Given the description of an element on the screen output the (x, y) to click on. 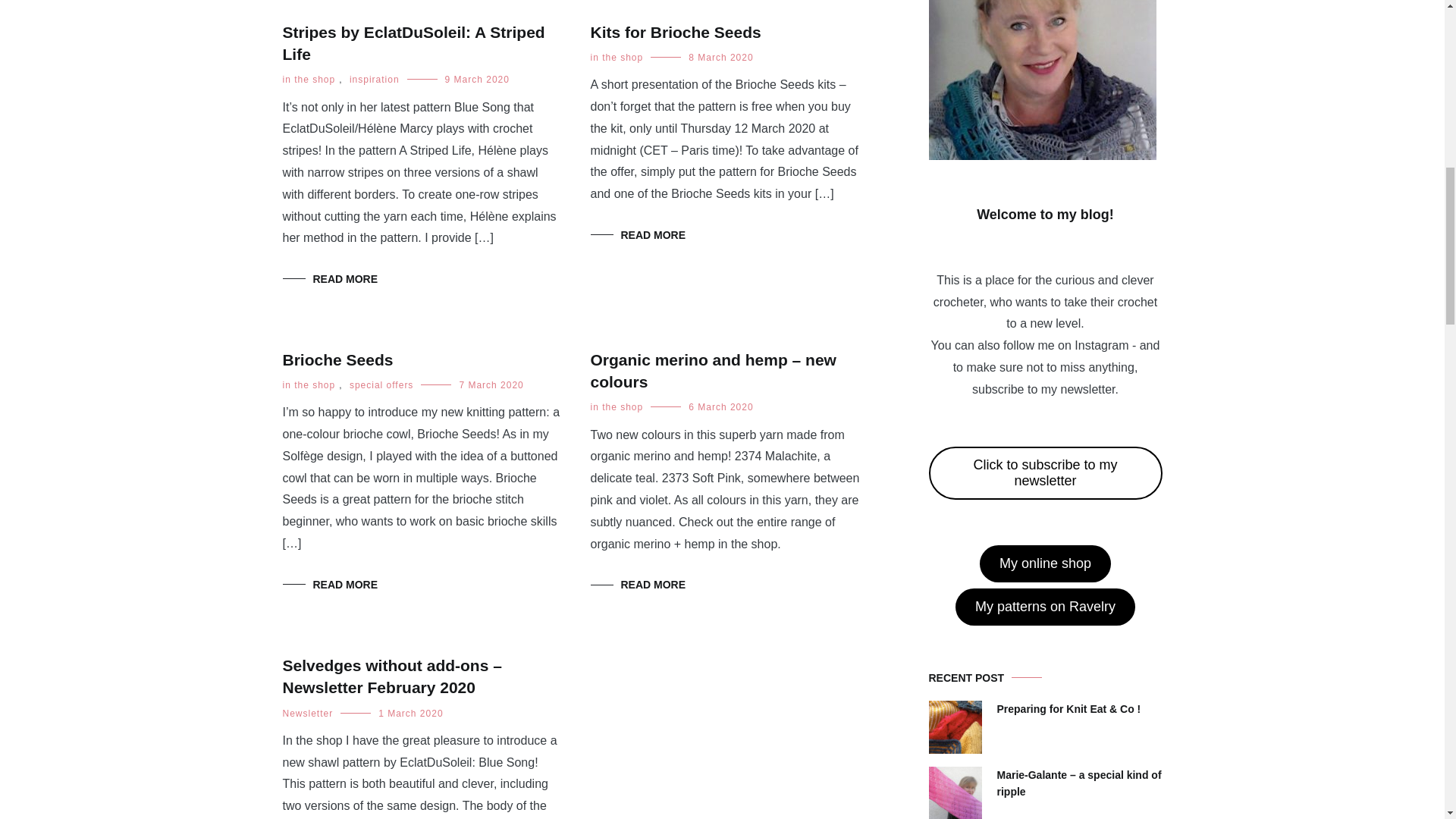
9 March 2020 (477, 79)
Brioche Seeds (337, 359)
8 March 2020 (720, 57)
inspiration (373, 79)
in the shop (616, 57)
READ MORE (329, 584)
in the shop (308, 385)
special offers (381, 385)
in the shop (616, 407)
7 March 2020 (490, 385)
Stripes by EclatDuSoleil: A Striped Life (413, 43)
READ MORE (637, 234)
6 March 2020 (720, 407)
Kits for Brioche Seeds (674, 31)
in the shop (308, 79)
